Given the description of an element on the screen output the (x, y) to click on. 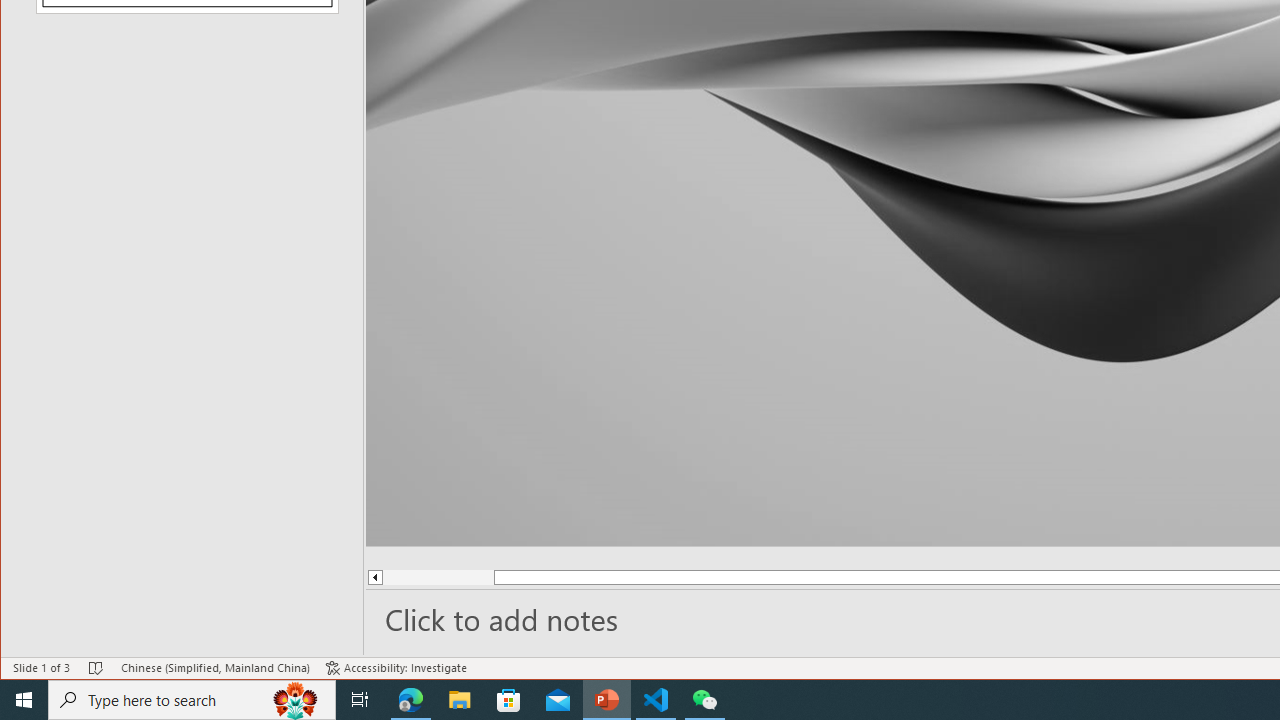
WeChat - 1 running window (704, 699)
